Given the description of an element on the screen output the (x, y) to click on. 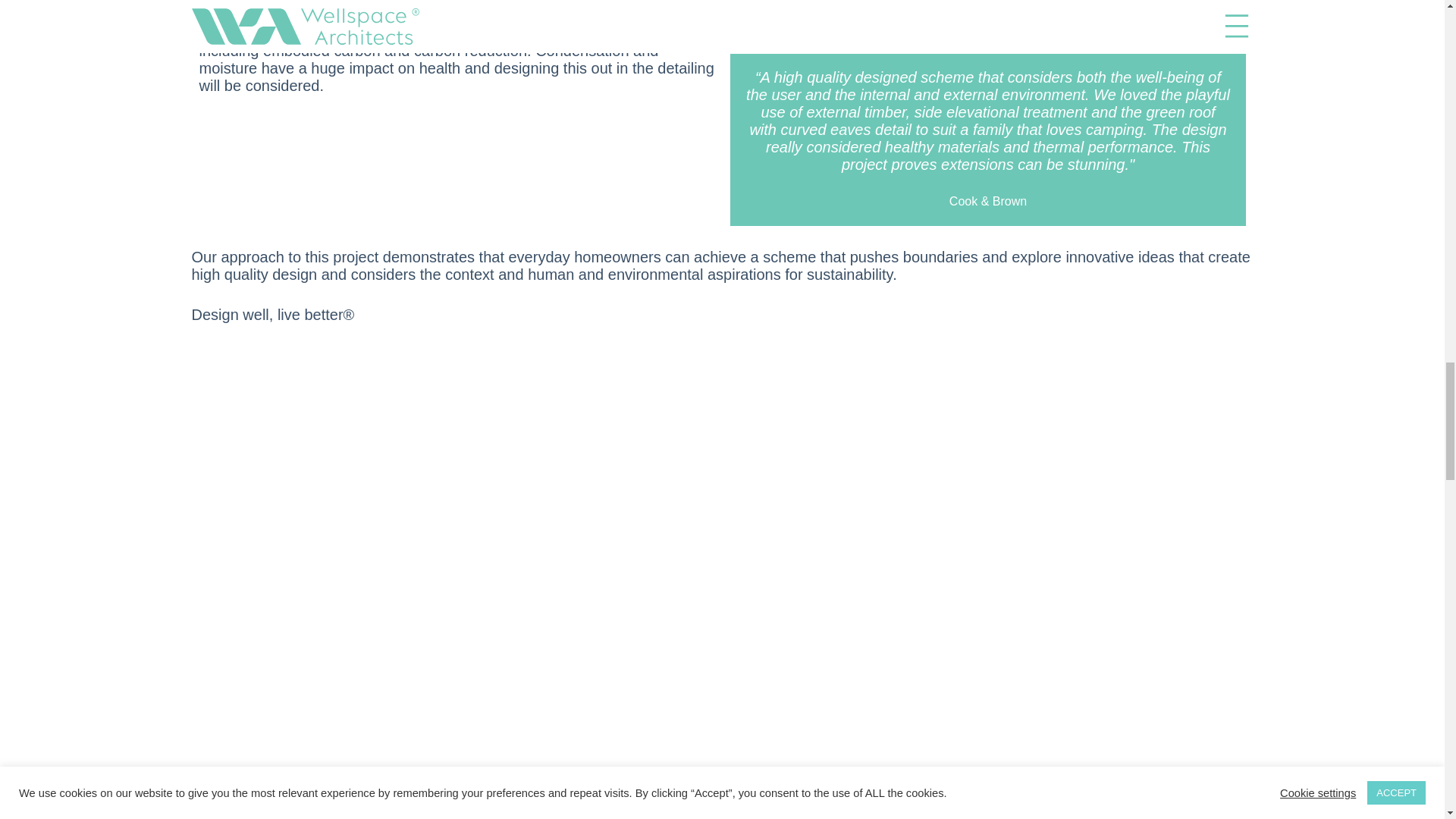
Hayden House (986, 19)
